Given the description of an element on the screen output the (x, y) to click on. 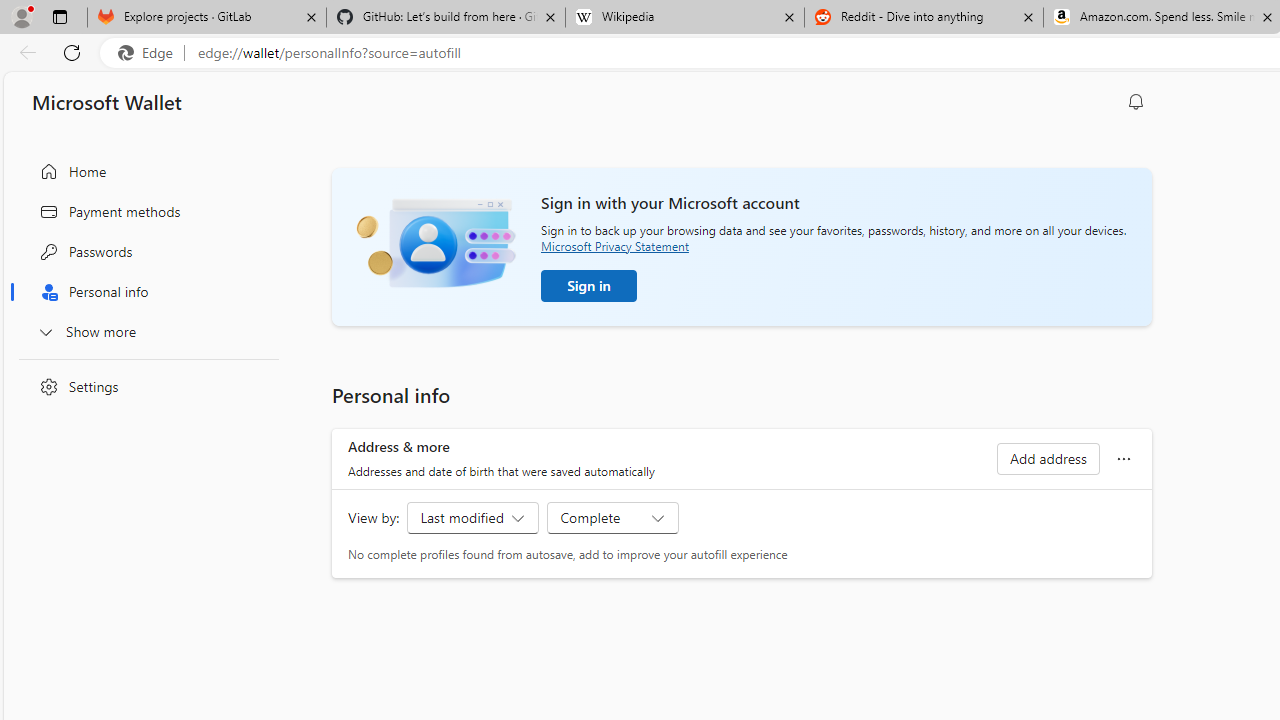
More actions (1124, 458)
